Given the description of an element on the screen output the (x, y) to click on. 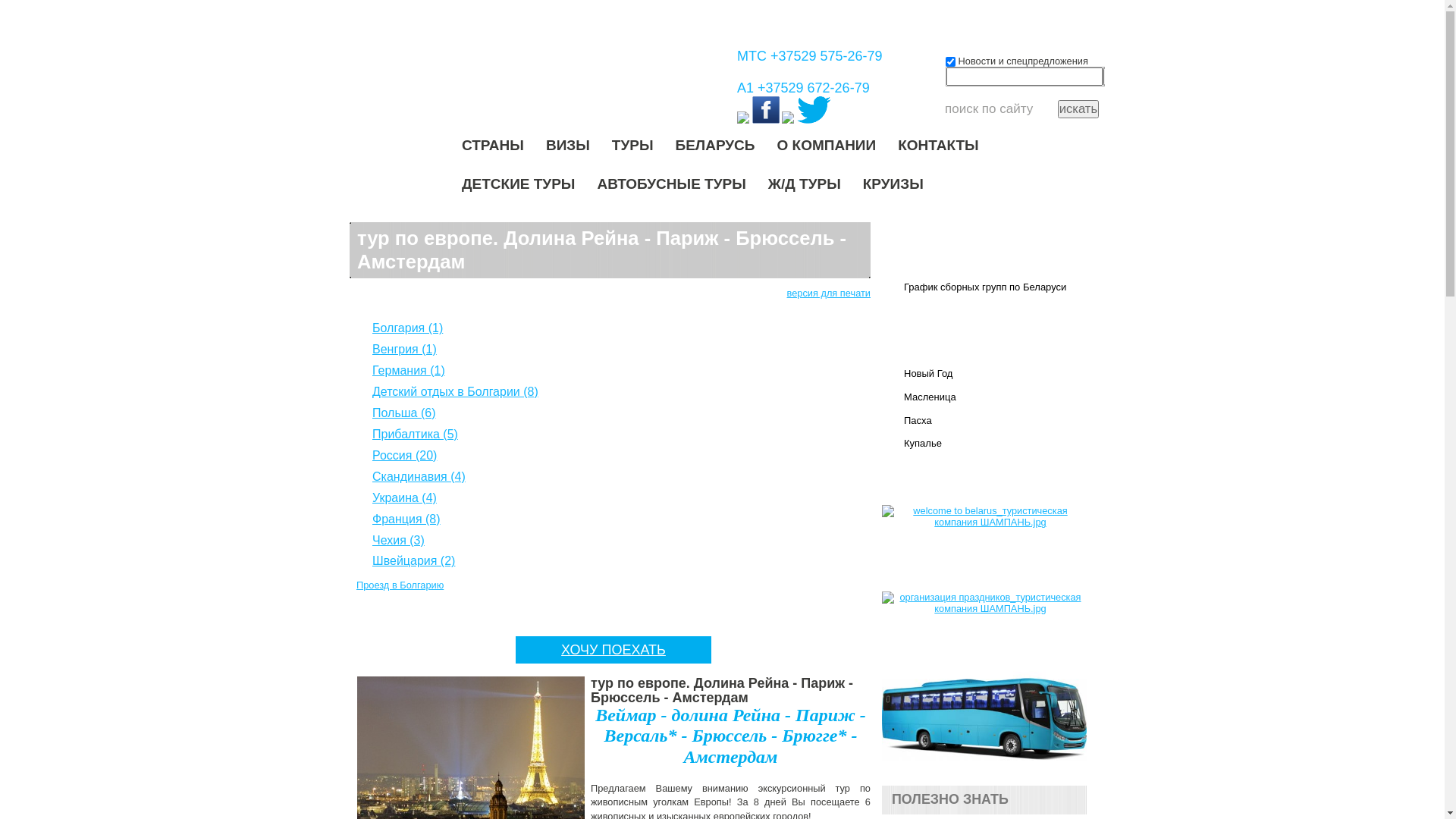
shampan.by Element type: text (497, 78)
A1 +37529 672-26-79 Element type: text (803, 87)
